Given the description of an element on the screen output the (x, y) to click on. 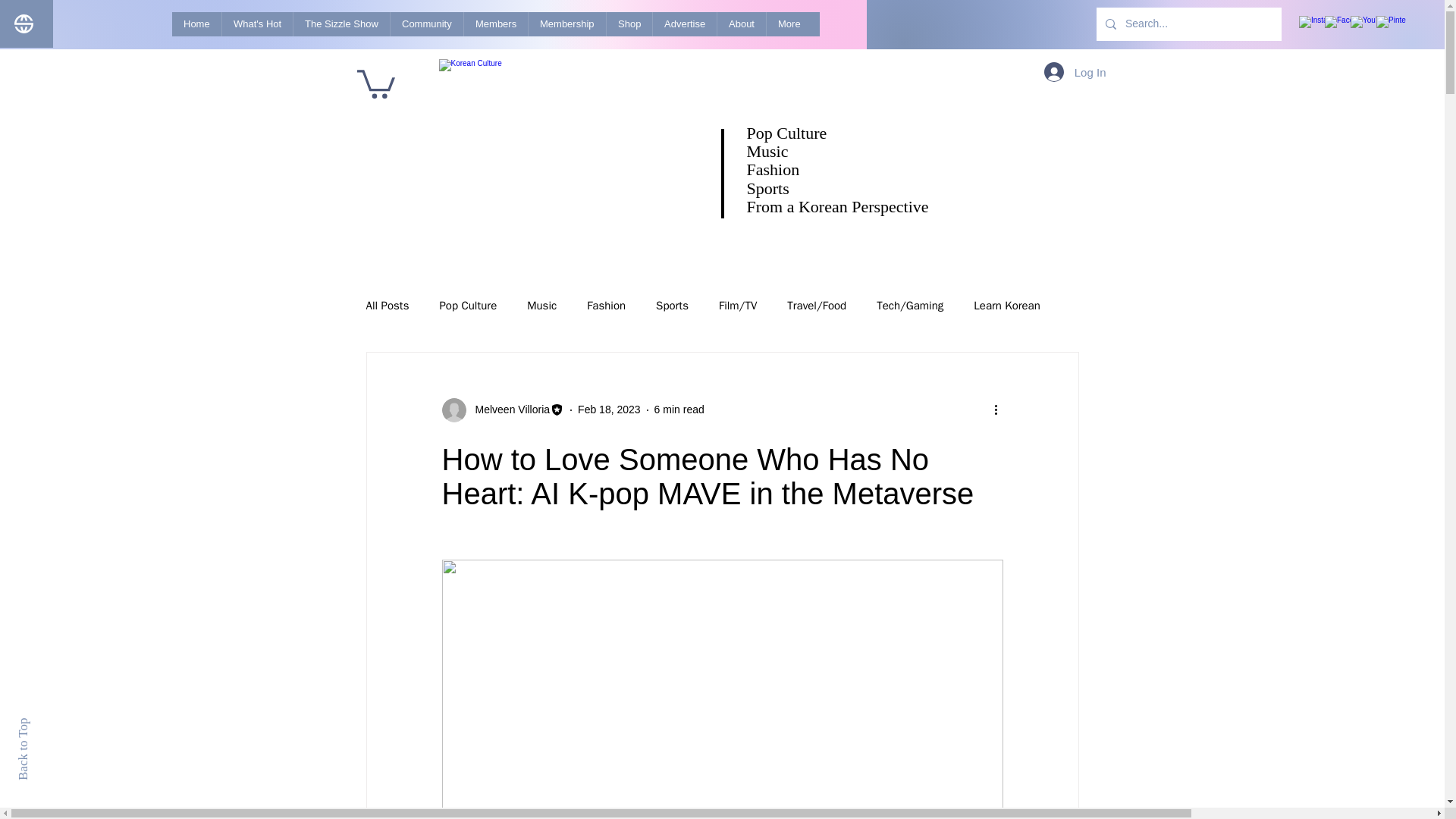
Pop Culture (467, 305)
What's Hot (256, 24)
Community (426, 24)
Advertise (684, 24)
Sports (672, 305)
The Sizzle Show (341, 24)
6 min read (678, 409)
Home (196, 24)
Shop (628, 24)
Music (541, 305)
